Given the description of an element on the screen output the (x, y) to click on. 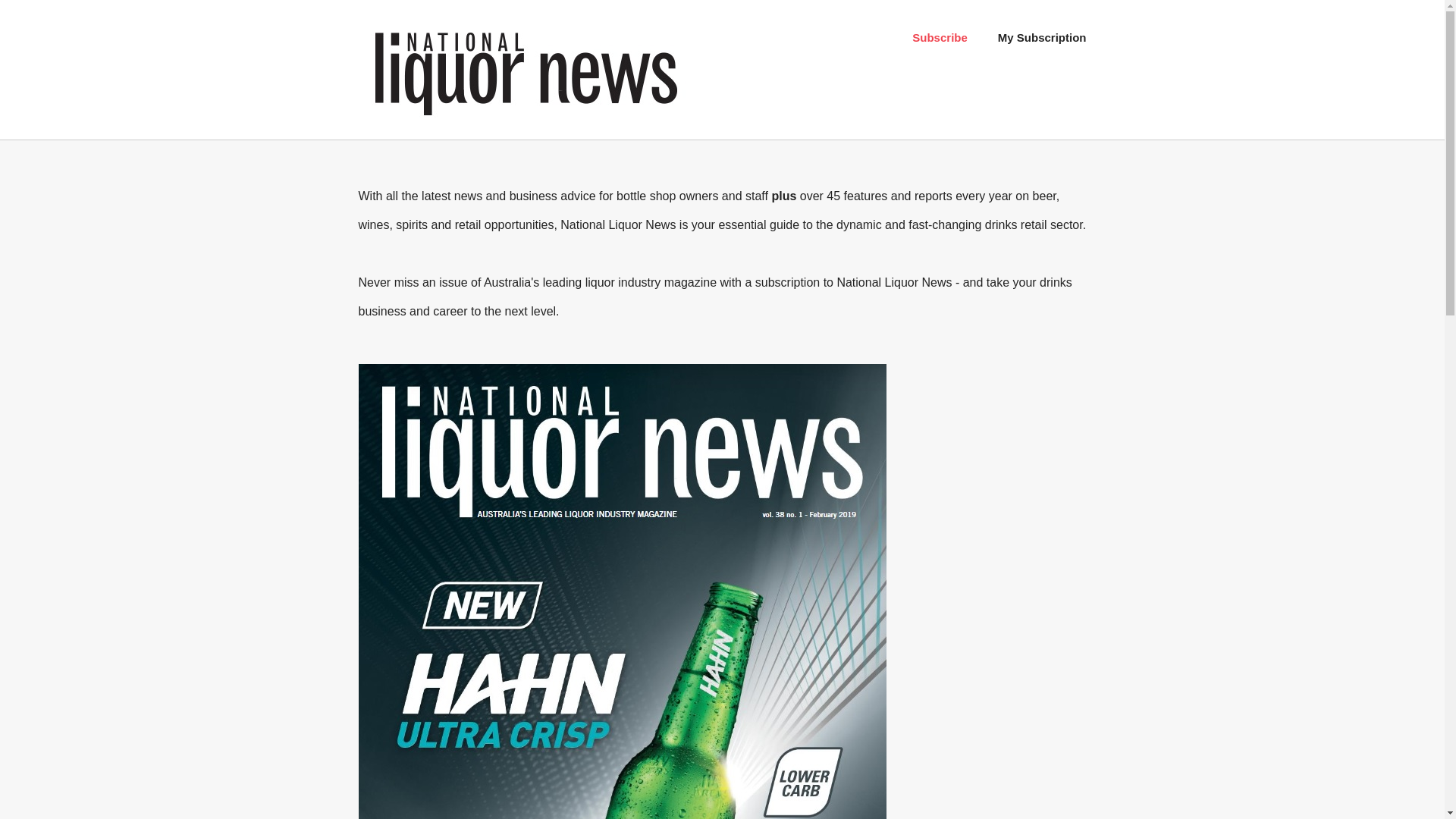
Subscribe Element type: text (939, 37)
My Subscription Element type: text (1041, 37)
